Given the description of an element on the screen output the (x, y) to click on. 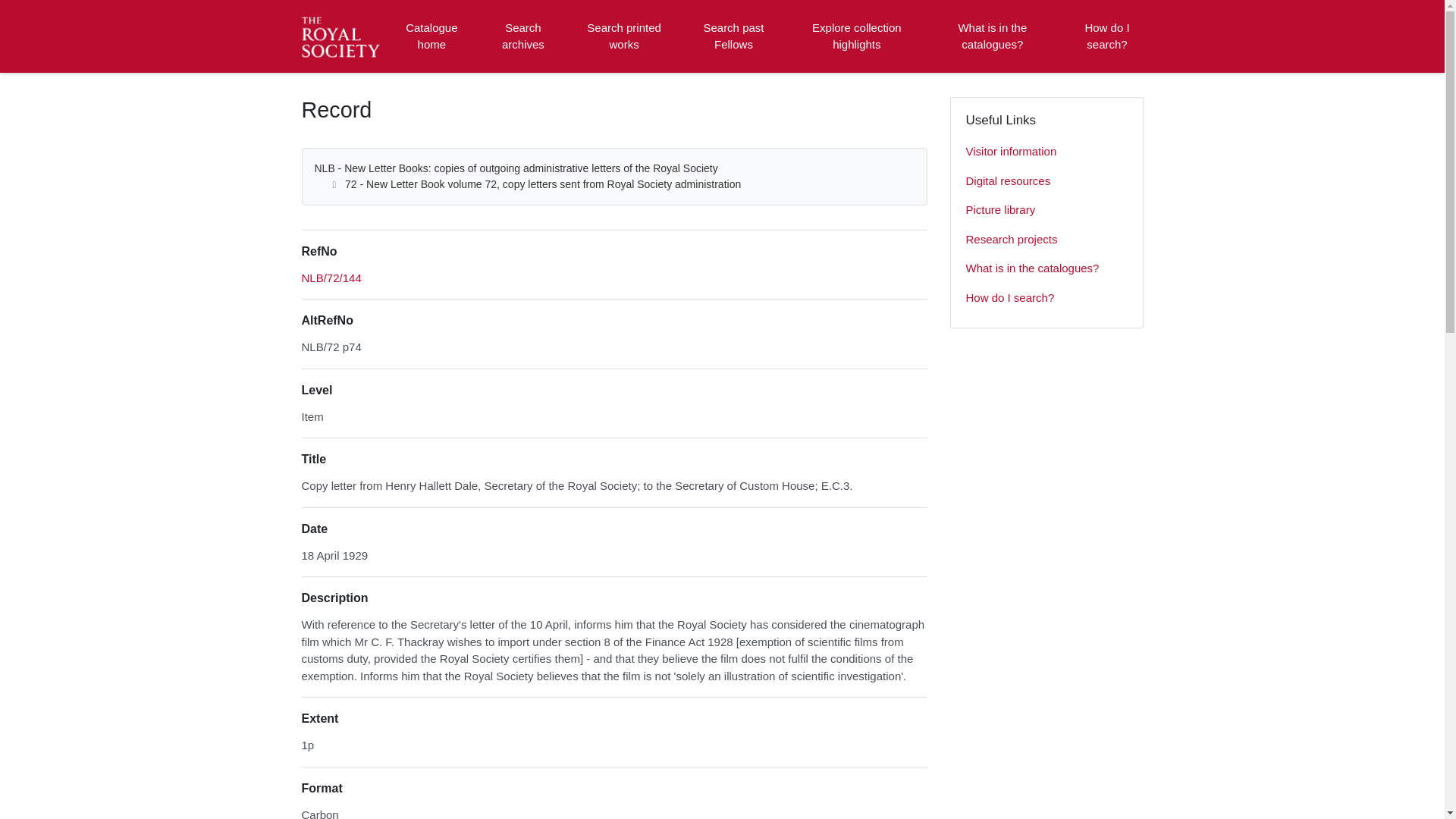
Explore collection highlights (856, 36)
How do I search? (1106, 36)
Picture library (1046, 210)
Search past Fellows (732, 36)
What is in the catalogues? (1046, 268)
Homepage (343, 36)
Digital resources (1046, 181)
Search printed works (624, 36)
Visitor information (1046, 152)
